Given the description of an element on the screen output the (x, y) to click on. 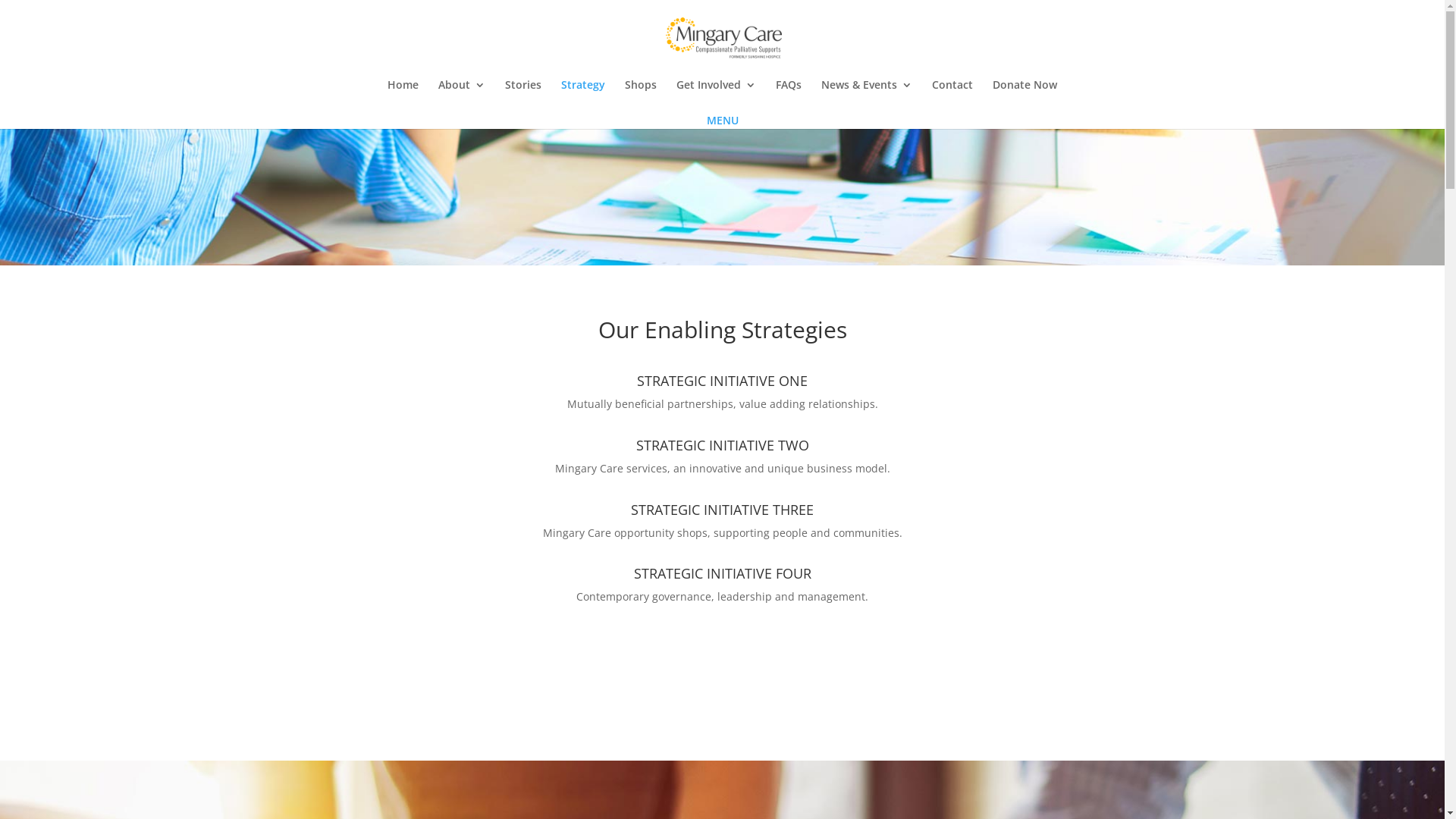
Donate Now Element type: text (1024, 95)
Contact Element type: text (951, 95)
Stories Element type: text (523, 95)
Get Involved Element type: text (716, 95)
News & Events Element type: text (866, 95)
FAQs Element type: text (788, 95)
Shops Element type: text (640, 95)
Home Element type: text (402, 95)
Strategy Element type: text (583, 95)
MENU Element type: text (722, 119)
About Element type: text (461, 95)
